Given the description of an element on the screen output the (x, y) to click on. 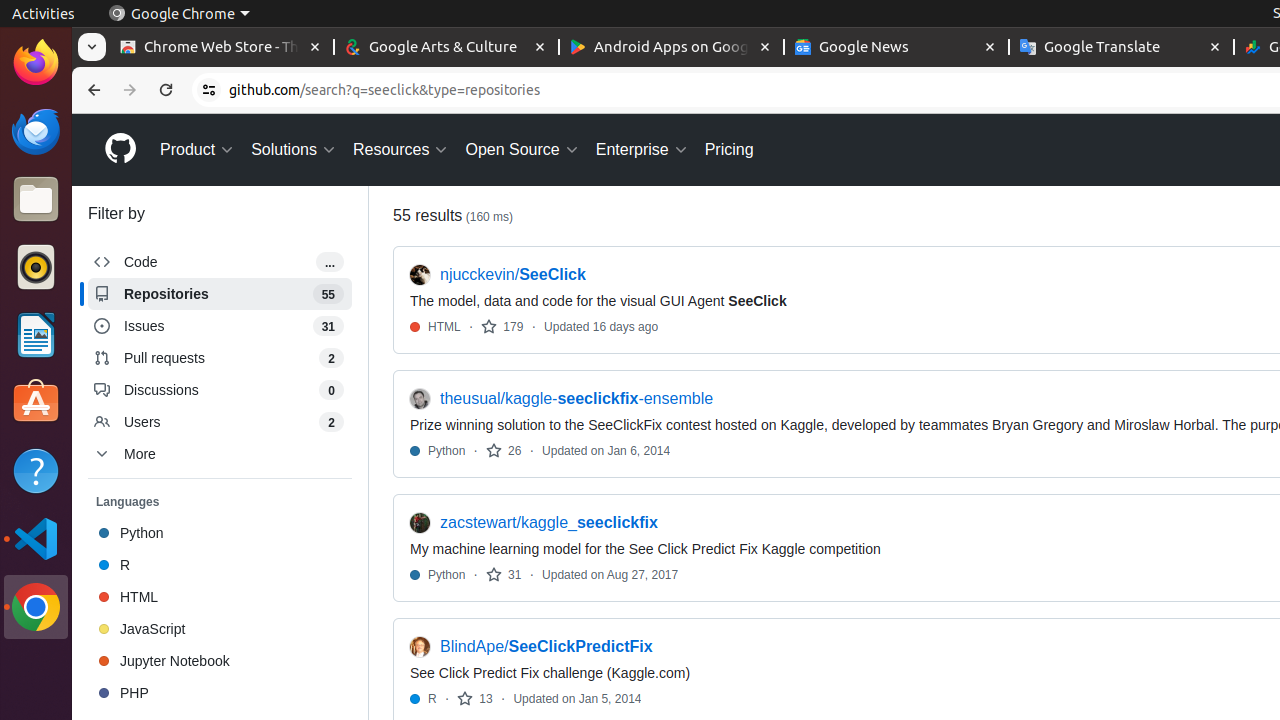
Resources Element type: push-button (401, 150)
Rhythmbox Element type: push-button (36, 267)
Discussions , 0 results  (0) Element type: link (220, 390)
Google Chrome Element type: push-button (36, 607)
zacstewart/kaggle_seeclickfix Element type: link (549, 523)
